Given the description of an element on the screen output the (x, y) to click on. 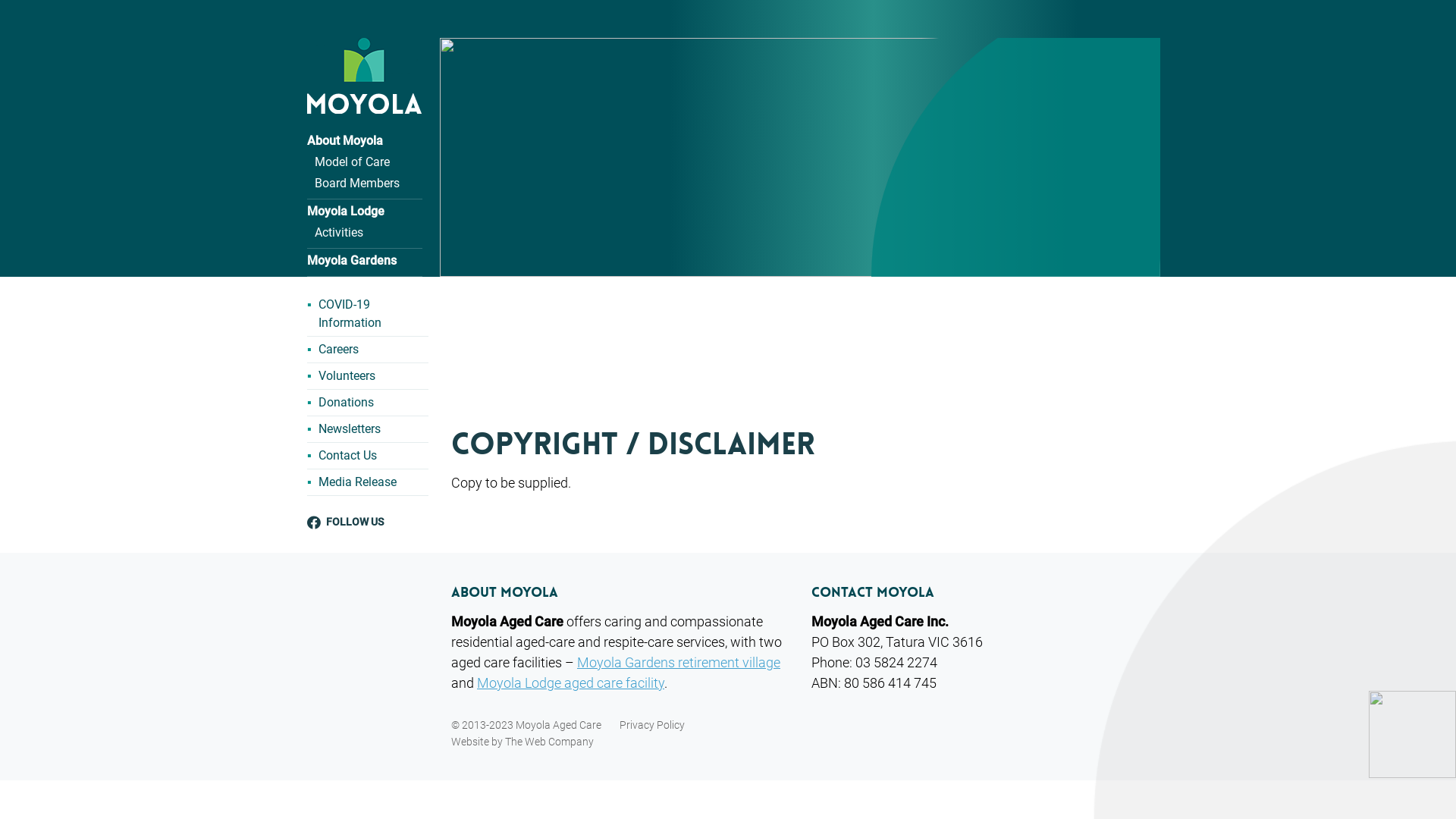
COVID-19 Information Element type: text (373, 313)
Careers Element type: text (338, 349)
The Web Company Element type: text (549, 741)
Privacy Policy Element type: text (651, 725)
Contact Us Element type: text (347, 455)
Board Members Element type: text (356, 182)
Newsletters Element type: text (349, 429)
Moyola Gardens Element type: text (351, 260)
Model of Care Element type: text (351, 161)
About Moyola Element type: text (344, 140)
Moyola Lodge Element type: text (345, 210)
FOLLOW US Element type: text (377, 522)
Media Release Element type: text (357, 482)
Activities Element type: text (338, 232)
Volunteers Element type: text (346, 376)
Moyola Lodge aged care facility Element type: text (570, 682)
Donations Element type: text (345, 402)
Moyola Gardens retirement village Element type: text (678, 662)
